Given the description of an element on the screen output the (x, y) to click on. 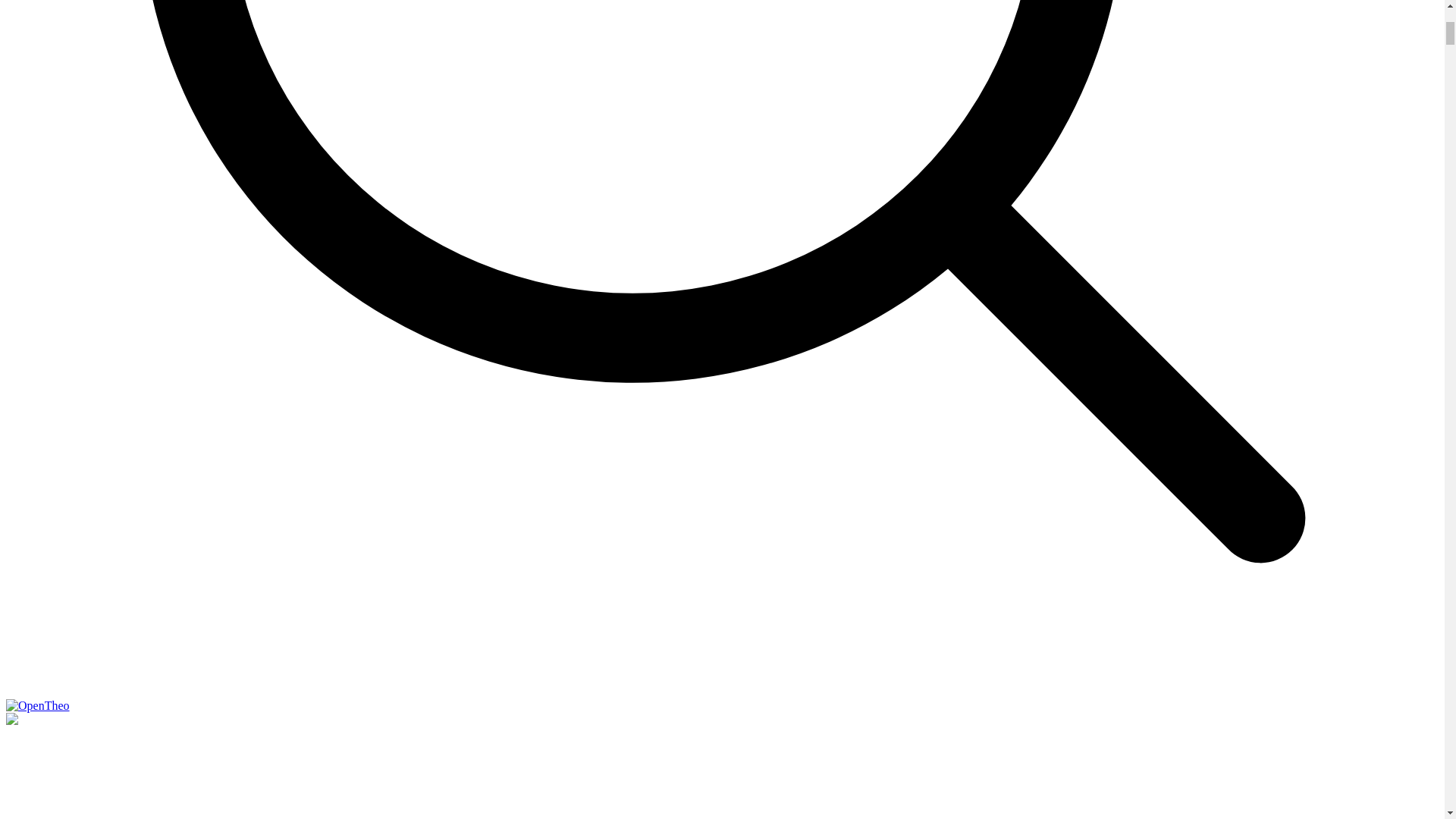
OpenTheo (37, 705)
